Given the description of an element on the screen output the (x, y) to click on. 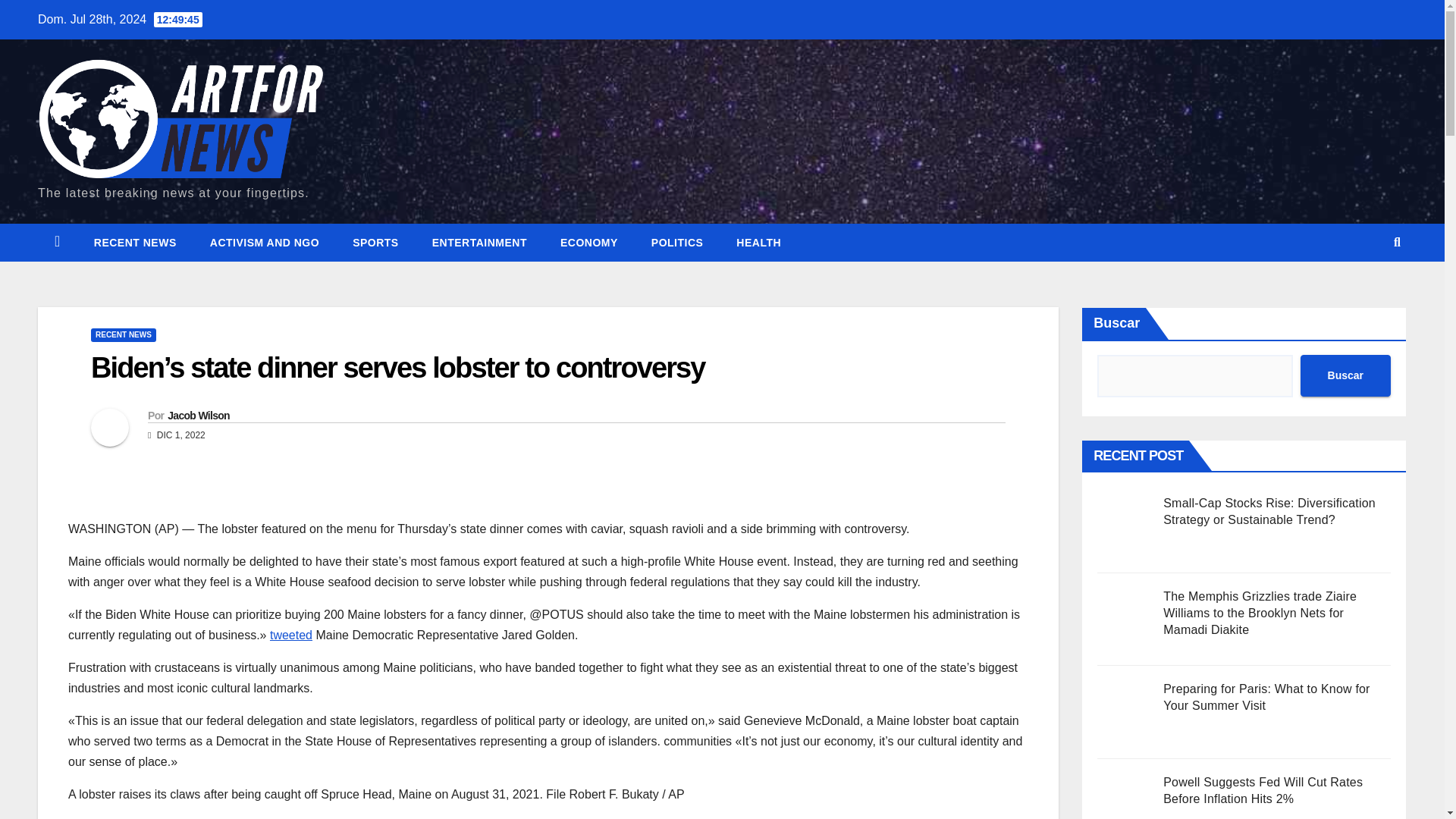
ECONOMY (588, 242)
SPORTS (375, 242)
RECENT NEWS (122, 335)
tweeted (291, 634)
Economy (588, 242)
Activism and NGO (264, 242)
Sports (375, 242)
Politics (677, 242)
ACTIVISM AND NGO (264, 242)
RECENT NEWS (135, 242)
HEALTH (758, 242)
POLITICS (677, 242)
Entertainment (478, 242)
Jacob Wilson (198, 415)
ENTERTAINMENT (478, 242)
